Given the description of an element on the screen output the (x, y) to click on. 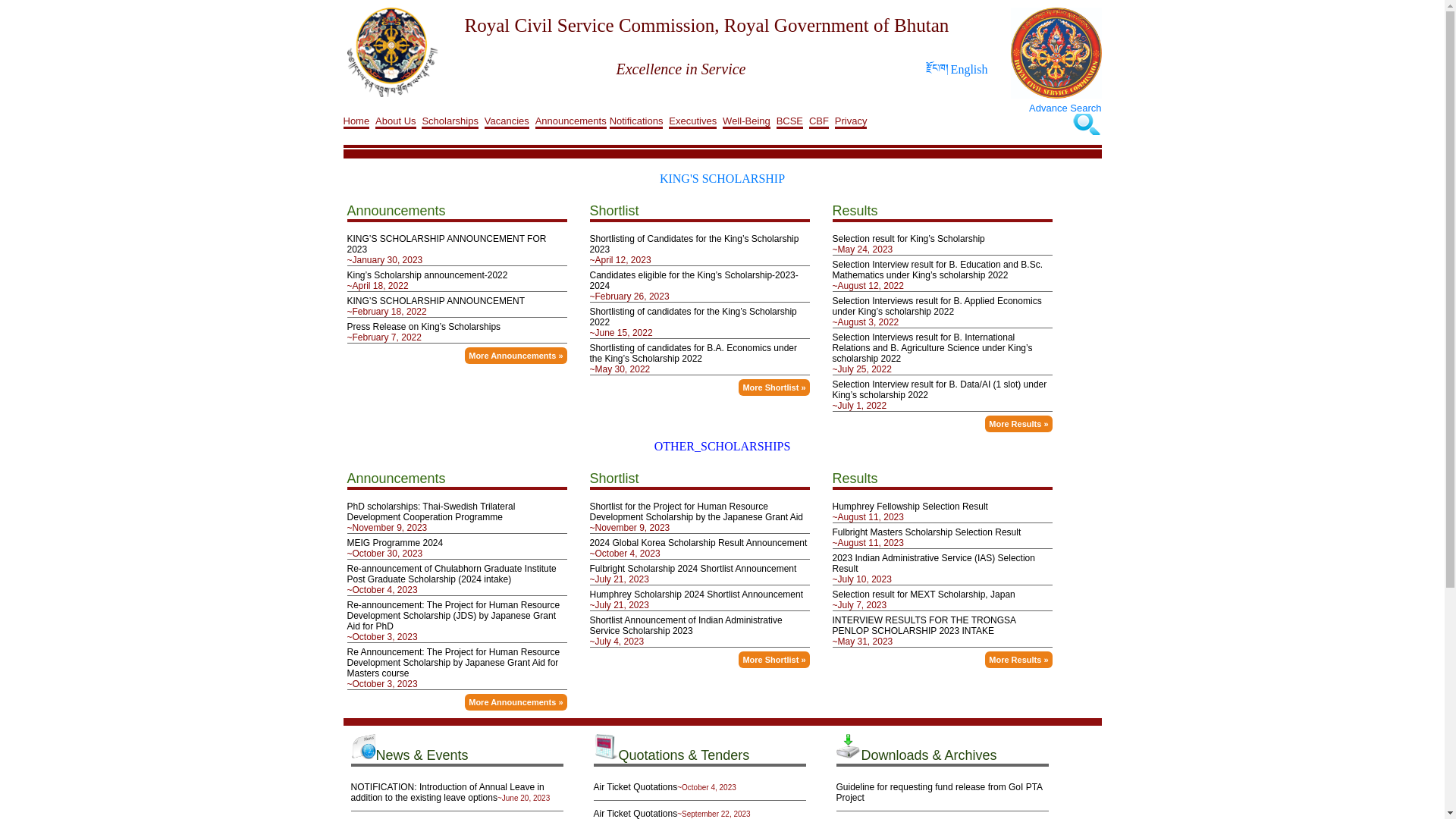
Advance Search Element type: text (1065, 107)
BCSE Element type: text (789, 117)
MEIG Programme 2024
~October 30, 2023 Element type: text (457, 546)
Notifications Element type: text (636, 117)
Humphrey Fellowship Selection Result
~August 11, 2023 Element type: text (942, 510)
Executives Element type: text (692, 117)
CBF Element type: text (818, 117)
Privacy Element type: text (850, 117)
Well-Being Element type: text (746, 117)
Selection result for MEXT Scholarship, Japan
~July 7, 2023 Element type: text (942, 598)
Announcements Element type: text (570, 117)
Air Ticket Quotations~October 4, 2023 Element type: text (699, 787)
Guideline for requesting fund release from GoI PTA Project Element type: text (941, 792)
Scholarships Element type: text (449, 117)
KING'S SCHOLARSHIP Element type: text (721, 178)
Vacancies Element type: text (506, 117)
English Element type: text (969, 68)
Home Element type: text (355, 117)
About Us Element type: text (395, 117)
